Given the description of an element on the screen output the (x, y) to click on. 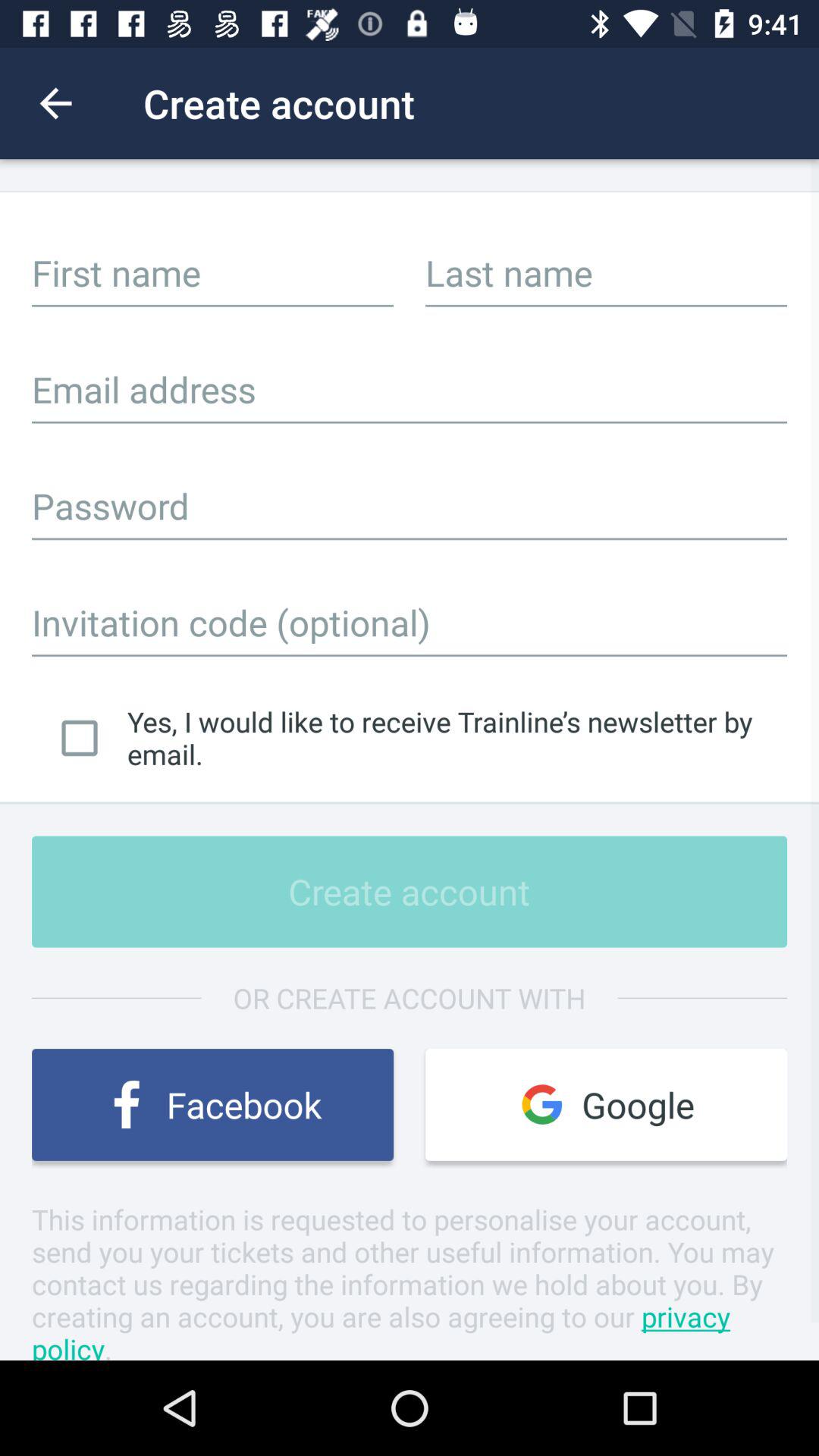
insert your first name (212, 272)
